Given the description of an element on the screen output the (x, y) to click on. 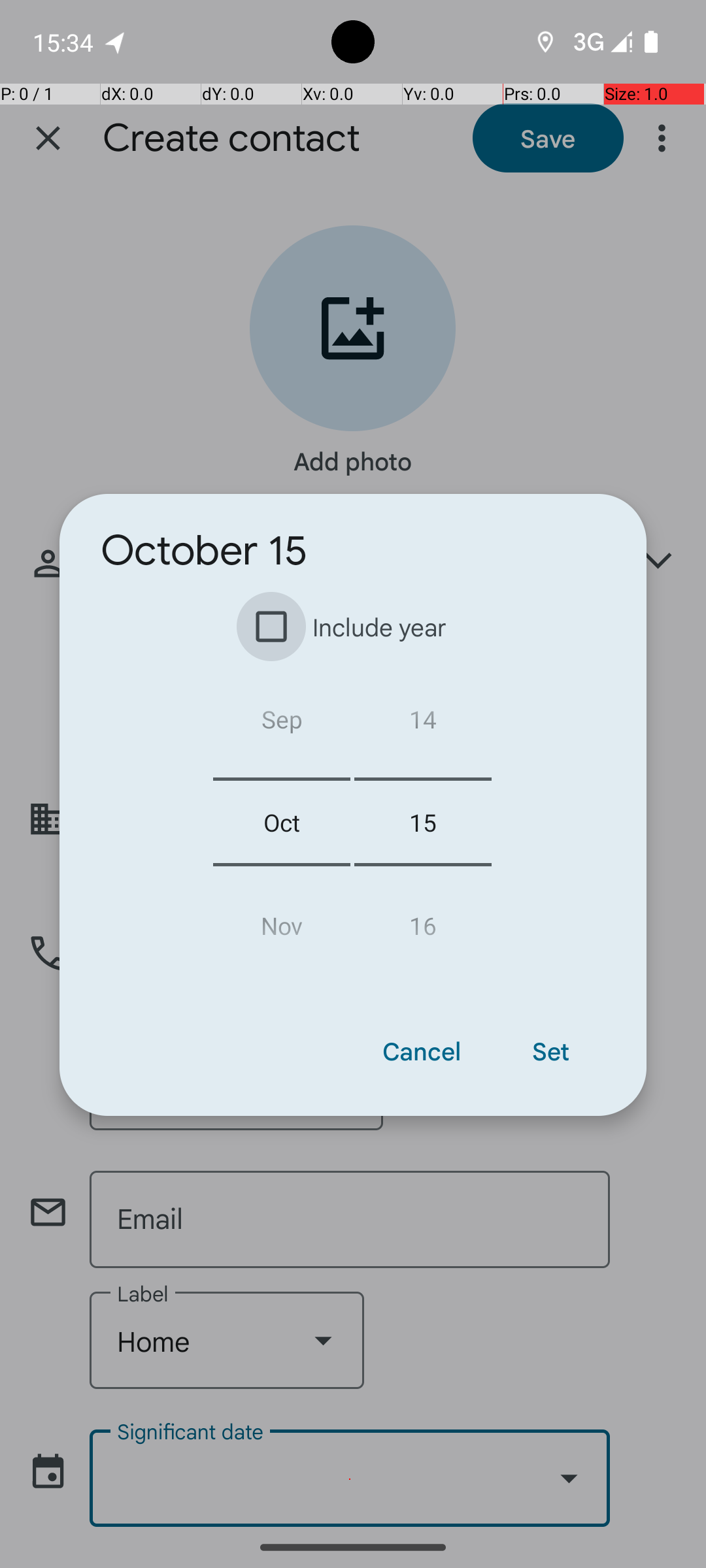
October 15 Element type: android.widget.TextView (203, 550)
Include year Element type: android.widget.CheckBox (351, 626)
Sep Element type: android.widget.Button (231, 723)
Oct Element type: android.widget.EditText (231, 821)
Nov Element type: android.widget.Button (231, 919)
14 Element type: android.widget.Button (372, 723)
16 Element type: android.widget.Button (372, 919)
Set Element type: android.widget.Button (550, 1050)
